Given the description of an element on the screen output the (x, y) to click on. 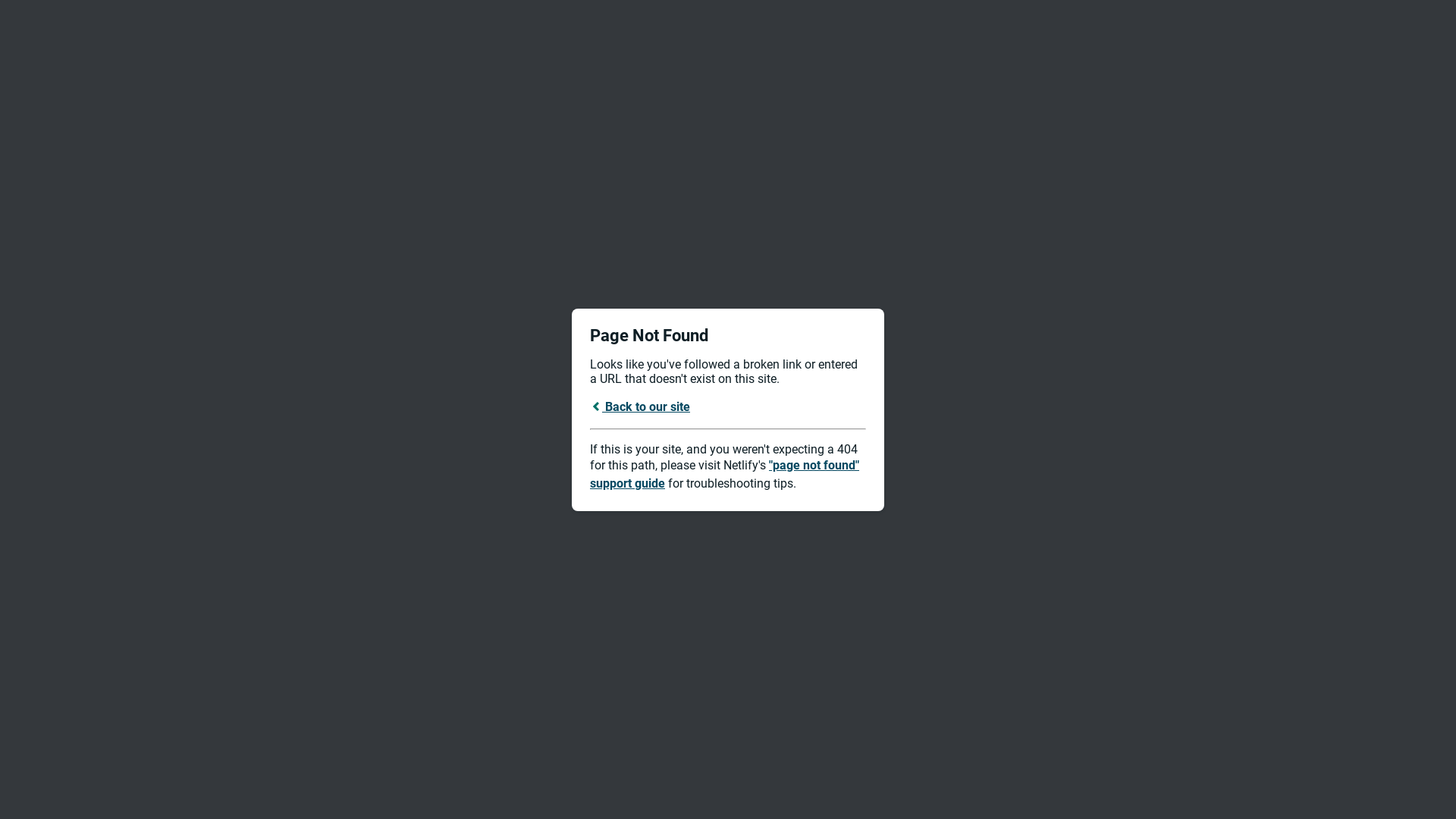
"page not found" support guide Element type: text (724, 474)
Back to our site Element type: text (639, 405)
